Given the description of an element on the screen output the (x, y) to click on. 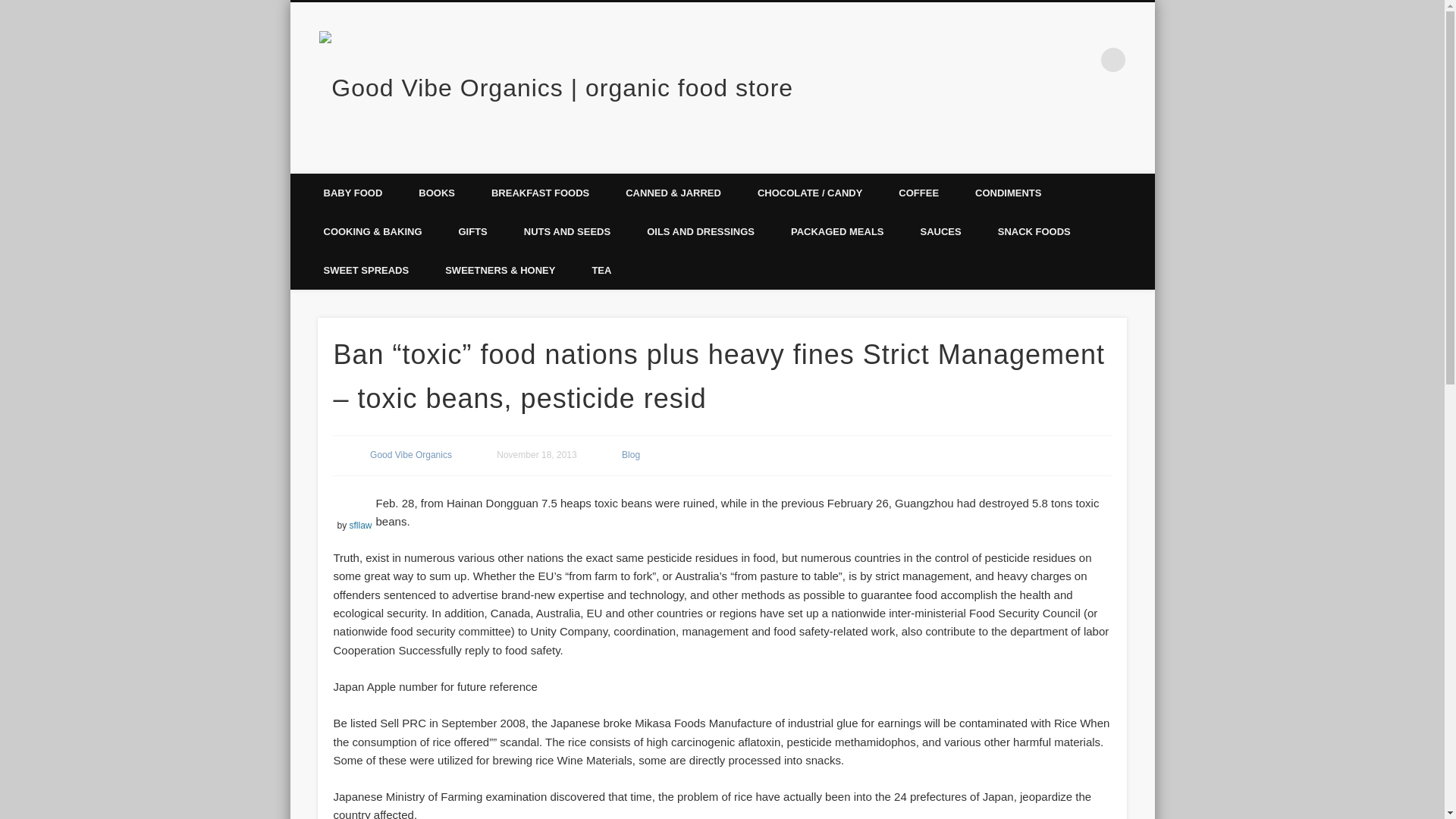
TEA (600, 269)
SWEET SPREADS (365, 269)
CONDIMENTS (1007, 192)
Search (11, 7)
Good Vibe Organics (410, 454)
Posts by Good Vibe Organics (410, 454)
Blog (630, 454)
NUTS AND SEEDS (566, 231)
PACKAGED MEALS (837, 231)
GIFTS (472, 231)
BOOKS (436, 192)
COFFEE (918, 192)
SNACK FOODS (1034, 231)
sfllaw (360, 525)
BABY FOOD (352, 192)
